Given the description of an element on the screen output the (x, y) to click on. 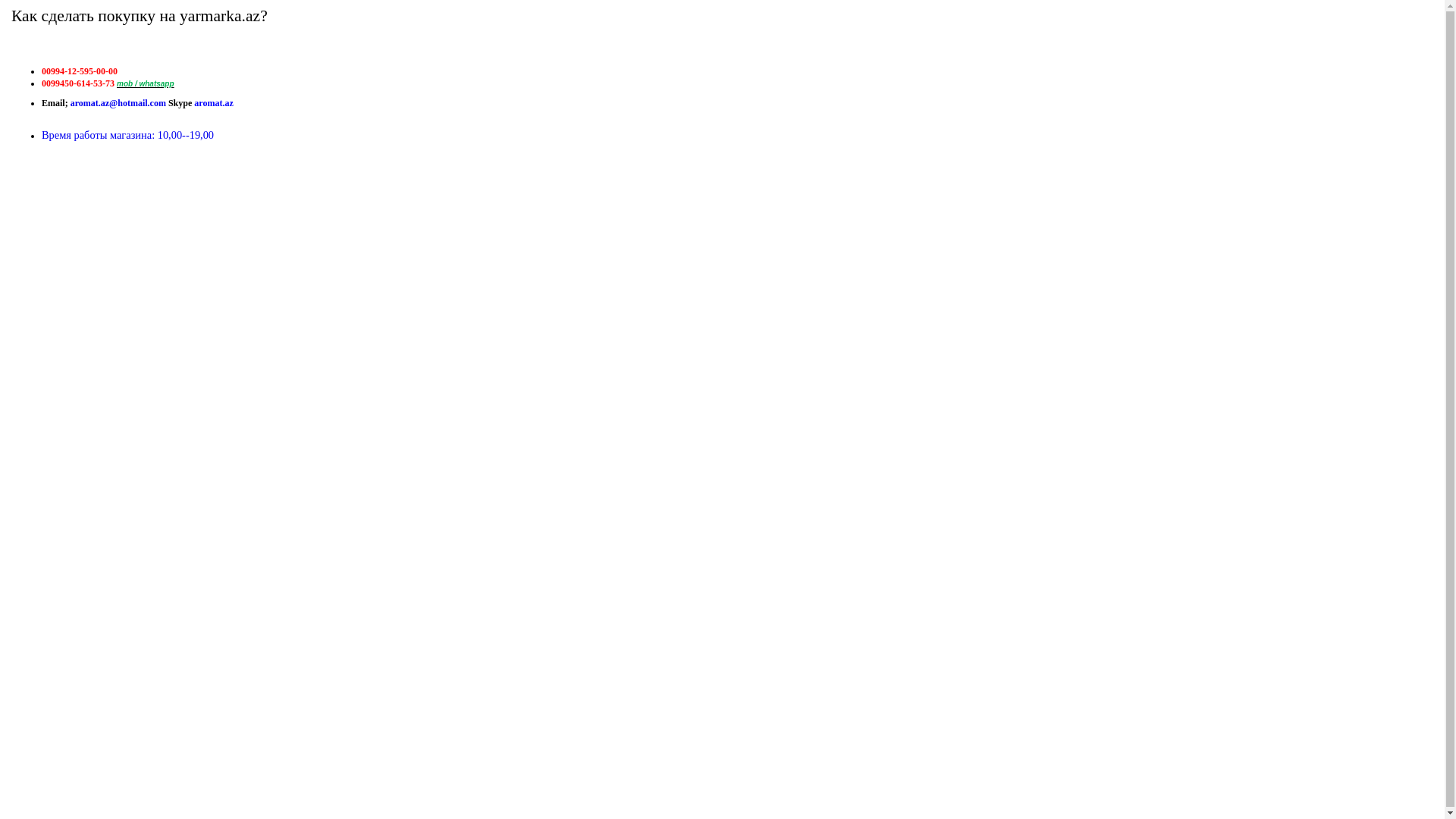
aromat.az@hotmail.com Element type: text (118, 102)
